Given the description of an element on the screen output the (x, y) to click on. 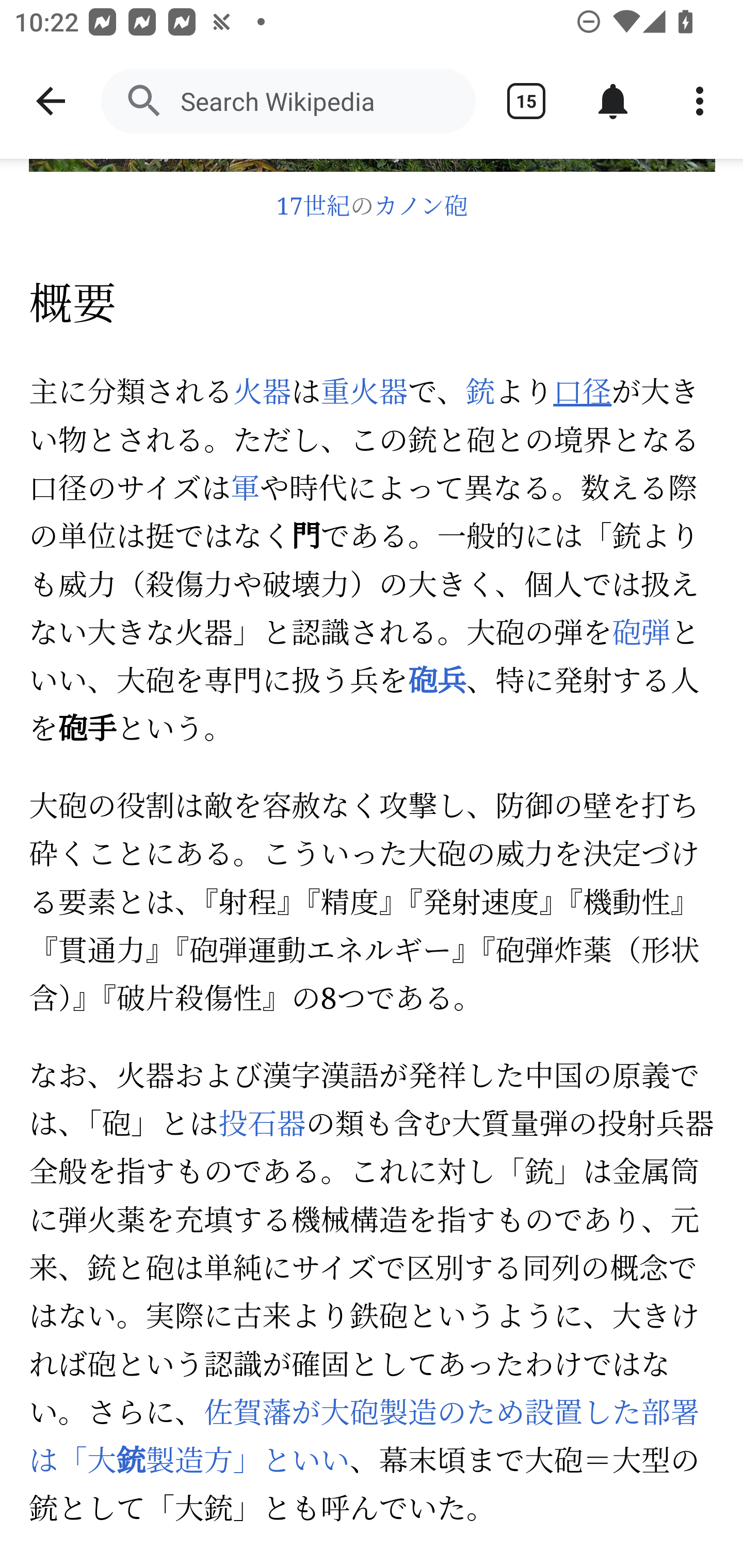
Show tabs 15 (525, 100)
Notifications (612, 100)
Navigate up (50, 101)
More options (699, 101)
Search Wikipedia (288, 100)
17世紀 (313, 208)
カノン砲 (420, 208)
火器 (261, 392)
重火器 (364, 392)
銃 (479, 392)
口径 (582, 392)
軍 (244, 491)
砲弾 (640, 635)
砲兵 (436, 683)
投石器 (261, 1126)
